Given the description of an element on the screen output the (x, y) to click on. 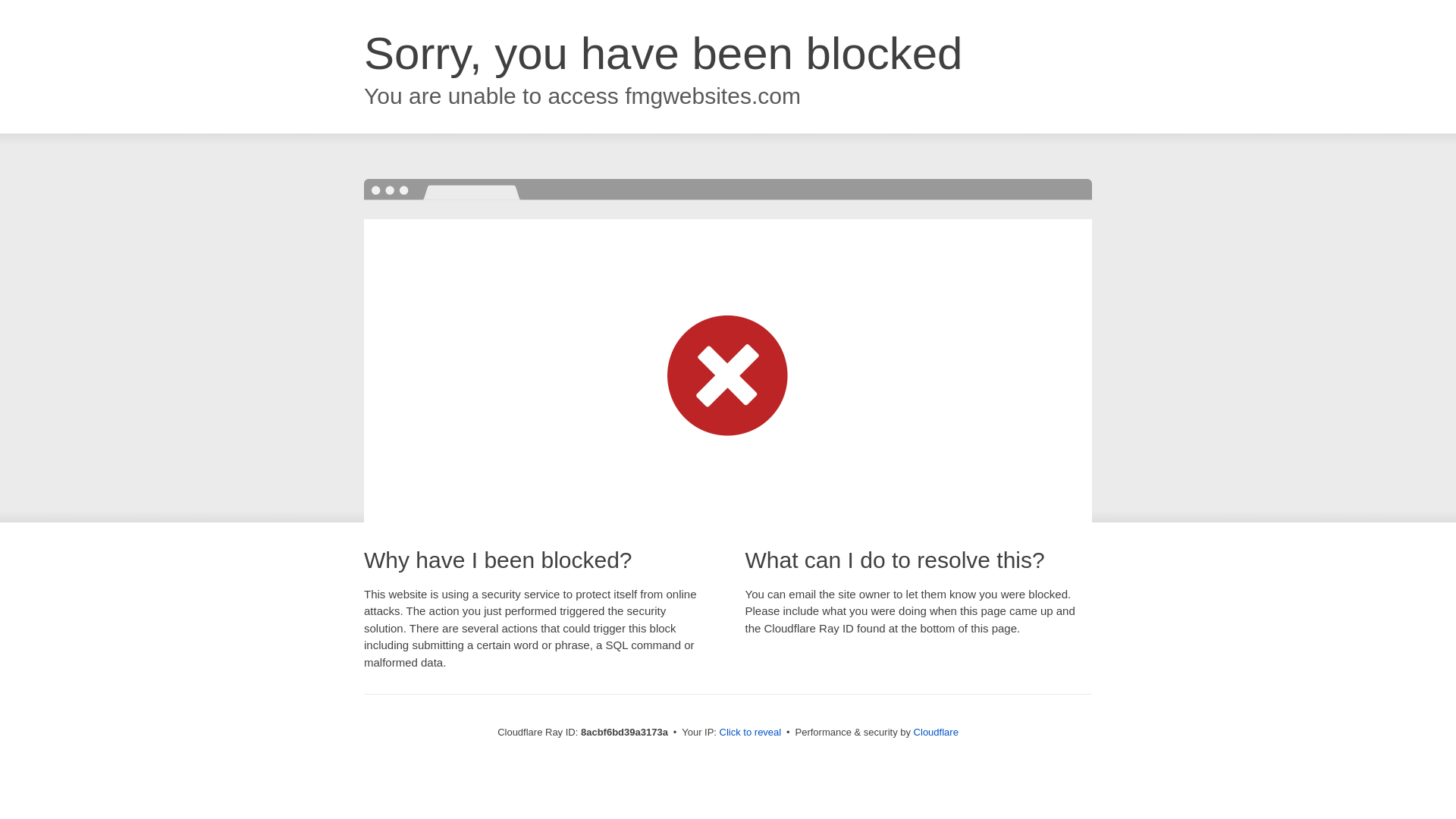
Cloudflare (936, 731)
Click to reveal (750, 732)
